Given the description of an element on the screen output the (x, y) to click on. 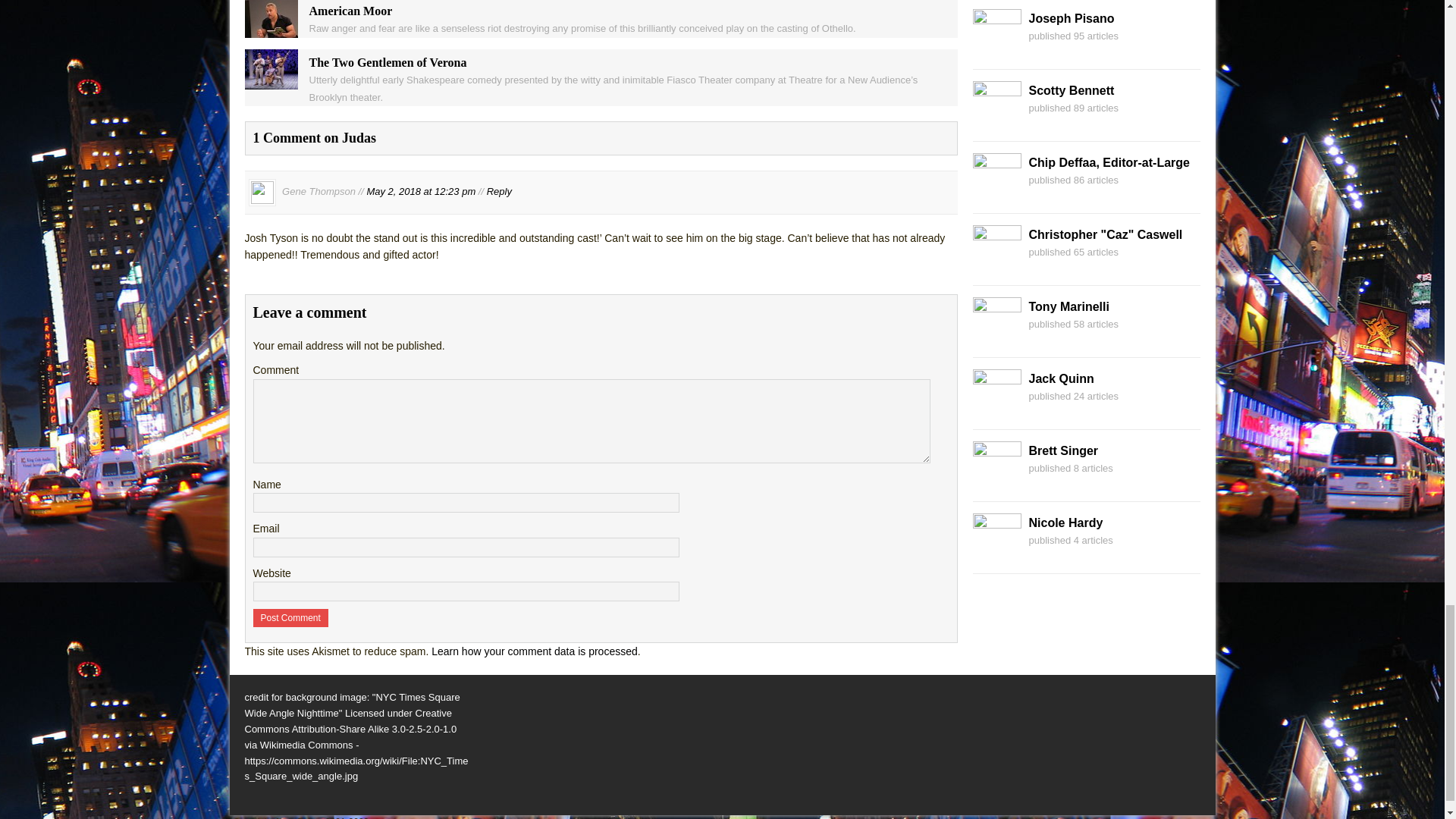
Post Comment (291, 618)
American Moor (270, 29)
